Given the description of an element on the screen output the (x, y) to click on. 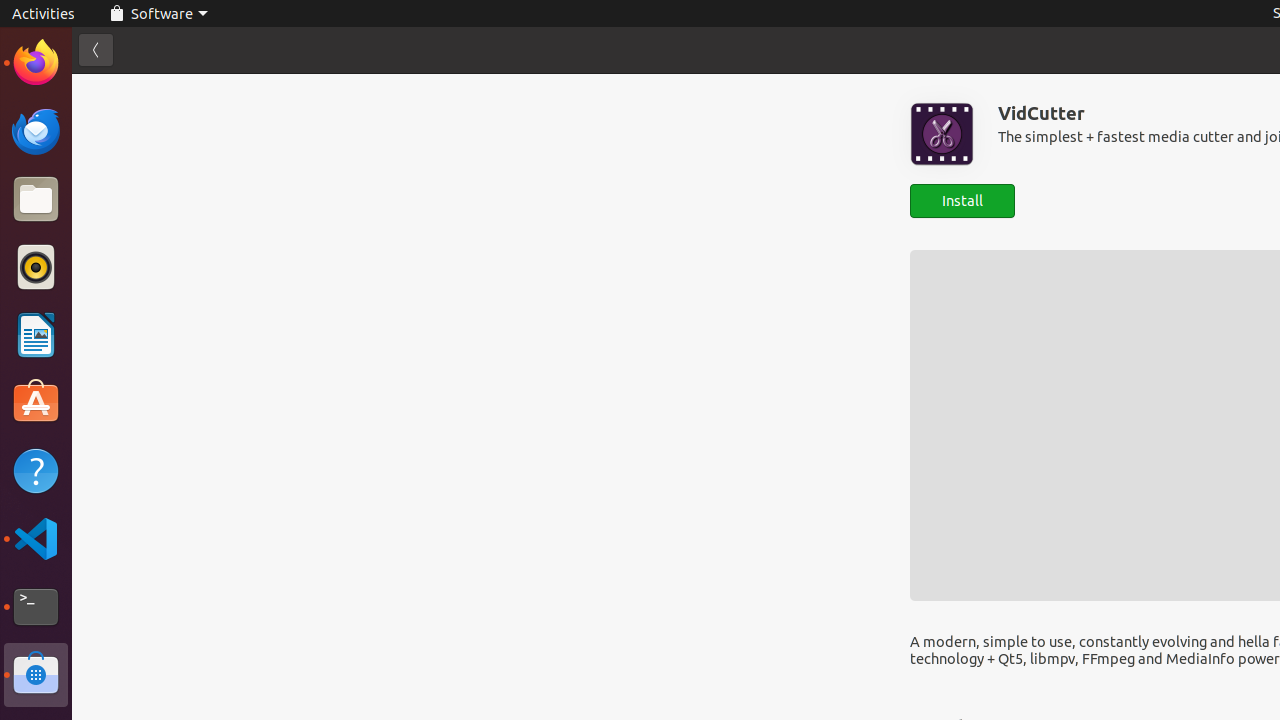
Trash Element type: label (133, 191)
Software Element type: push-button (36, 675)
